Given the description of an element on the screen output the (x, y) to click on. 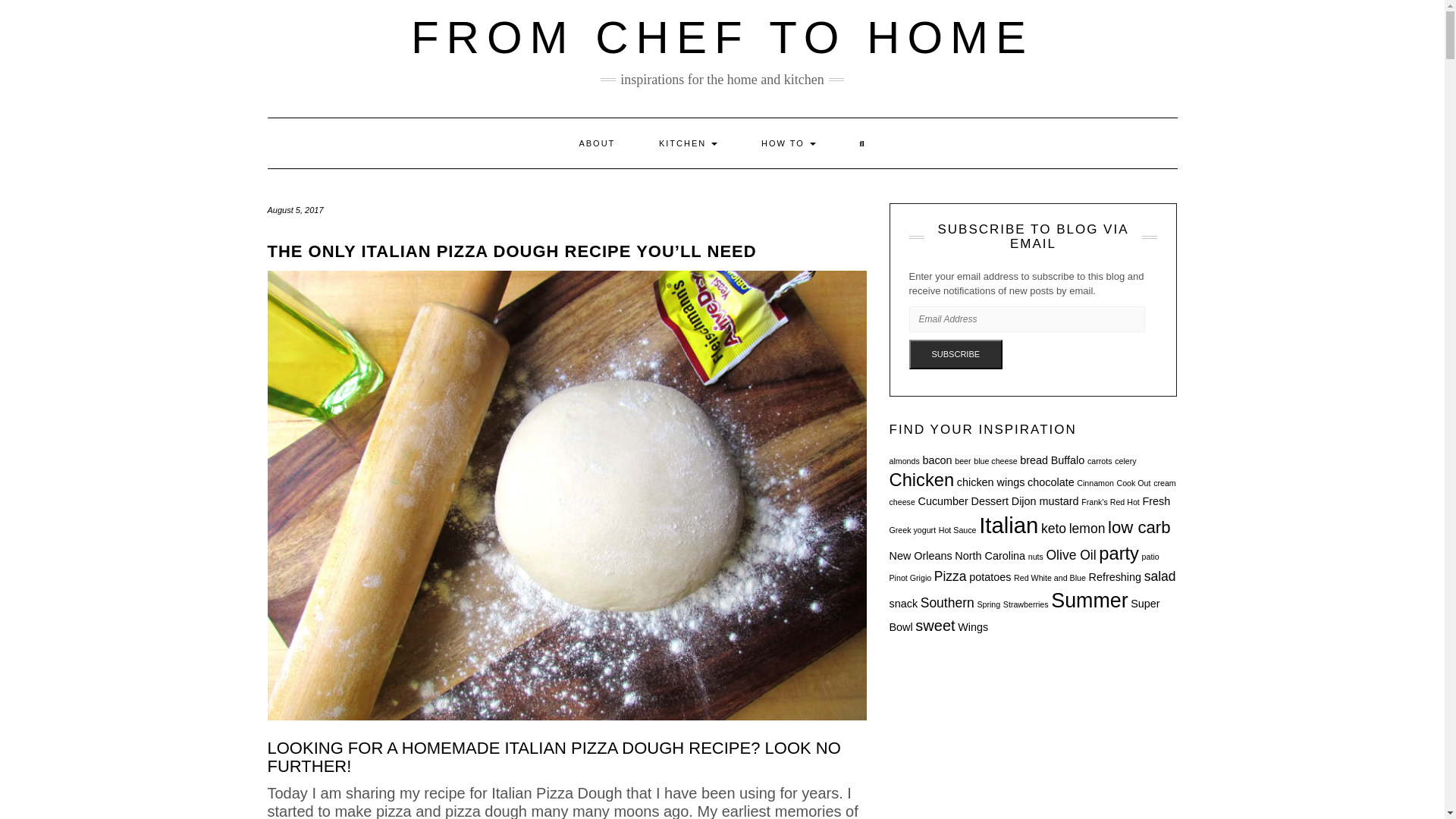
HOW TO (788, 142)
ABOUT (595, 142)
KITCHEN (688, 142)
FROM CHEF TO HOME (721, 37)
